Given the description of an element on the screen output the (x, y) to click on. 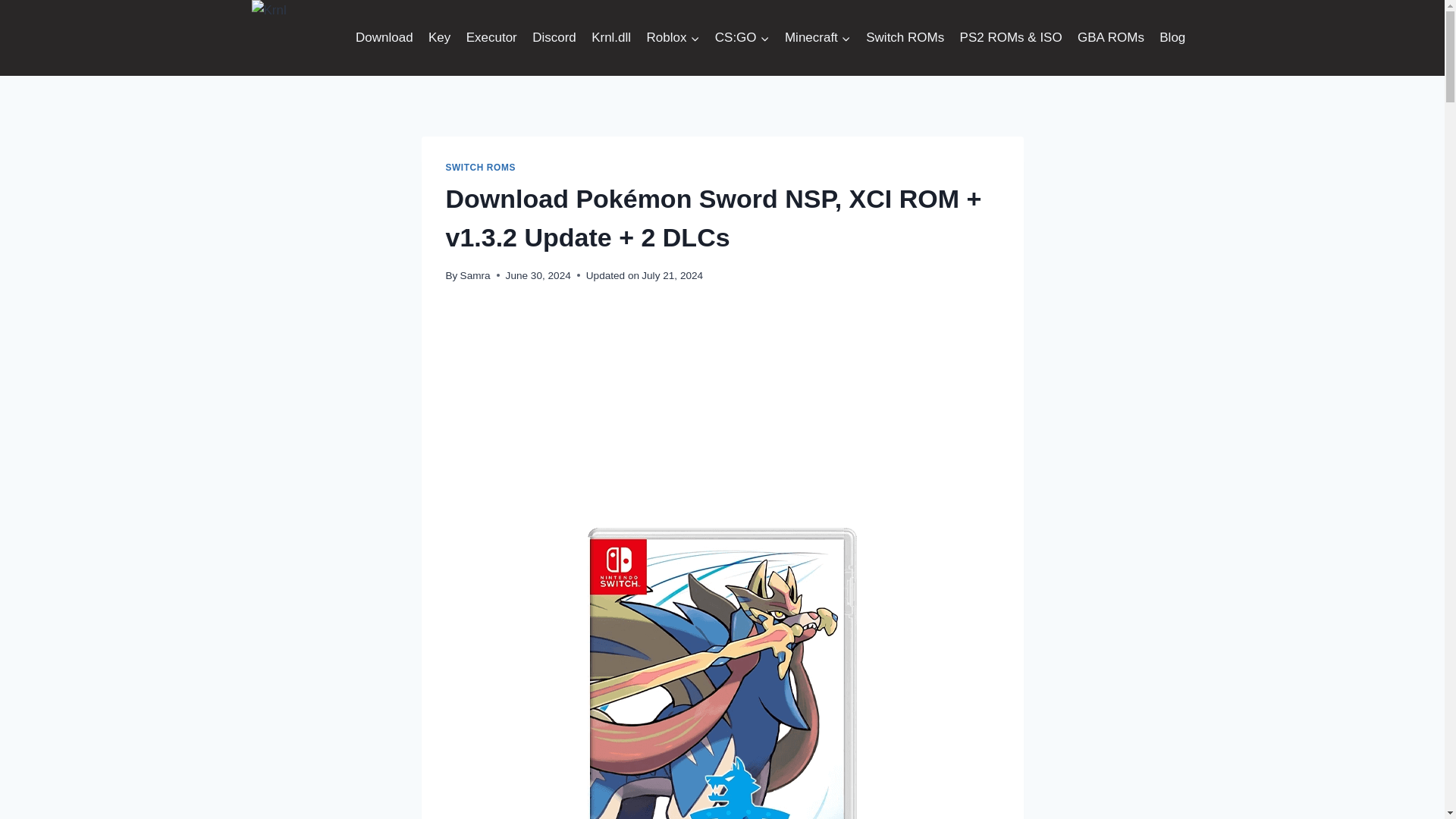
Download (383, 37)
SWITCH ROMS (480, 167)
Discord (553, 37)
CS:GO (742, 37)
Blog (1171, 37)
Executor (491, 37)
Minecraft (818, 37)
Krnl.dll (611, 37)
Samra (475, 275)
GBA ROMs (1110, 37)
